Given the description of an element on the screen output the (x, y) to click on. 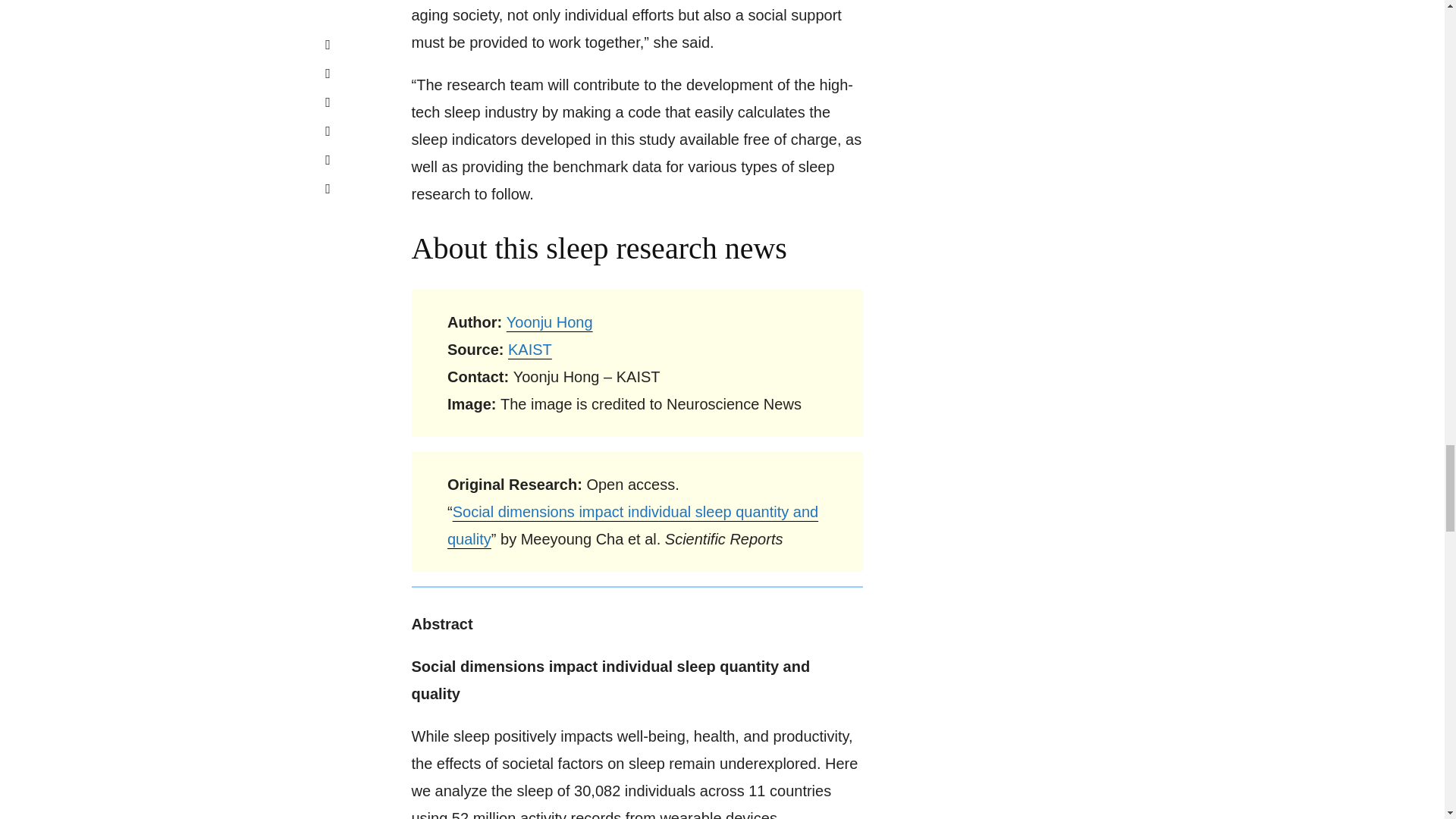
Yoonju Hong (549, 321)
KAIST (529, 349)
